Given the description of an element on the screen output the (x, y) to click on. 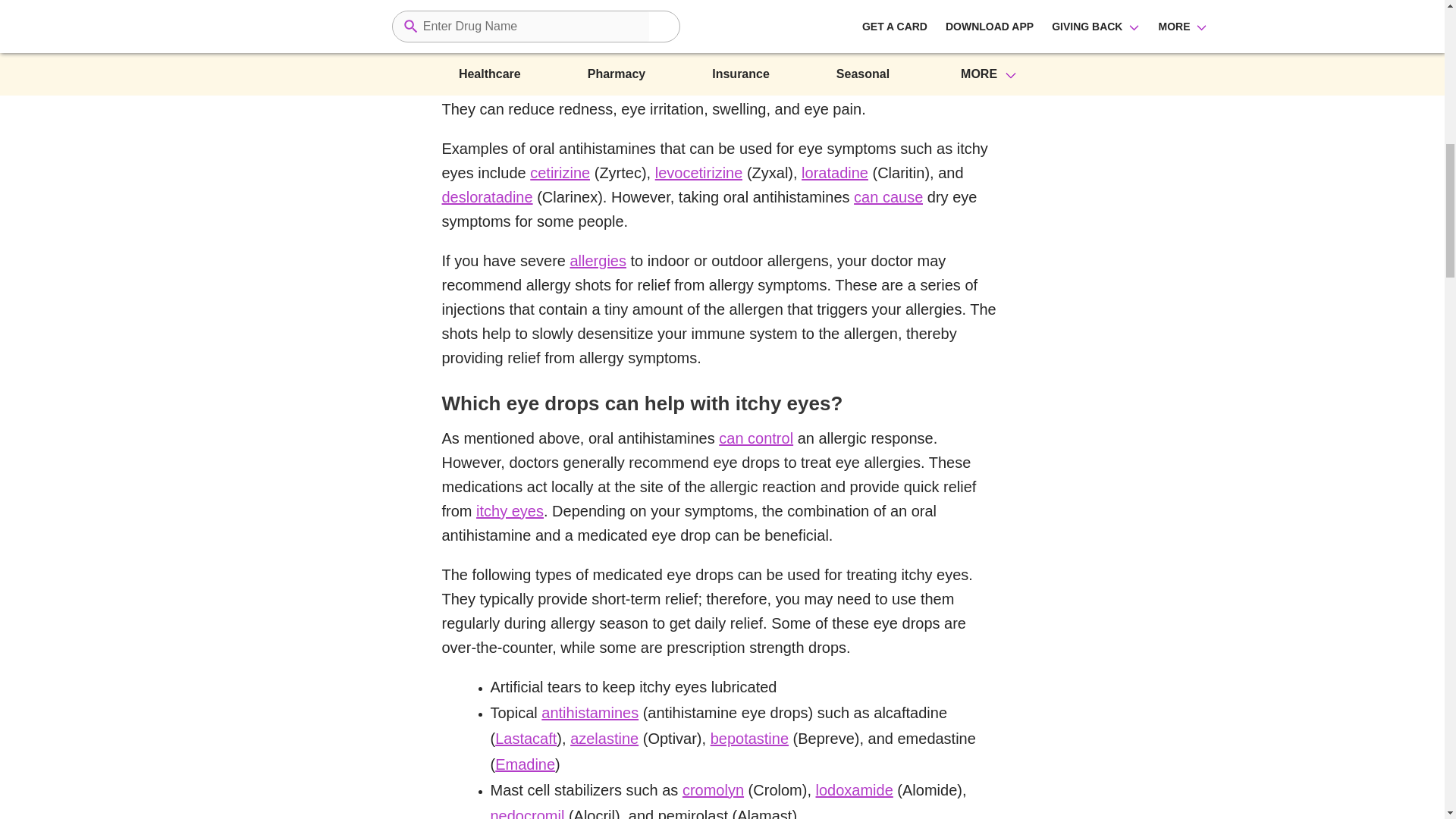
allergies (597, 260)
loratadine (834, 172)
desloratadine (486, 197)
Lastacaft (525, 739)
can control (756, 437)
itchy eyes (509, 510)
levocetirizine (698, 172)
cetirizine (559, 172)
antihistamines (590, 713)
can cause (888, 197)
